Given the description of an element on the screen output the (x, y) to click on. 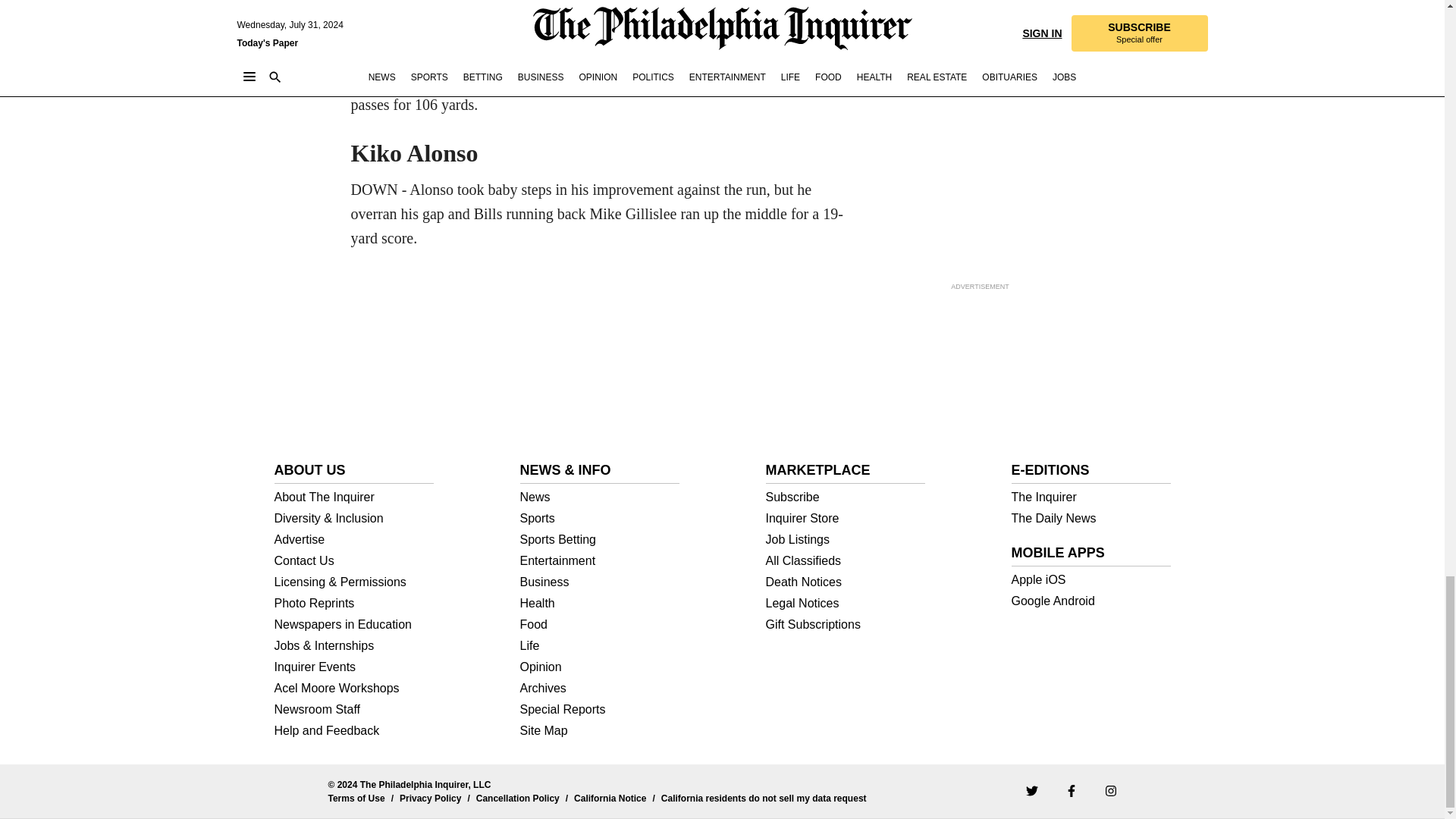
Photo Reprints (354, 603)
About The Inquirer (354, 497)
Facebook (1070, 789)
Twitter (1030, 789)
Advertise (354, 539)
Contact Us (354, 561)
Instagram (1109, 789)
